Given the description of an element on the screen output the (x, y) to click on. 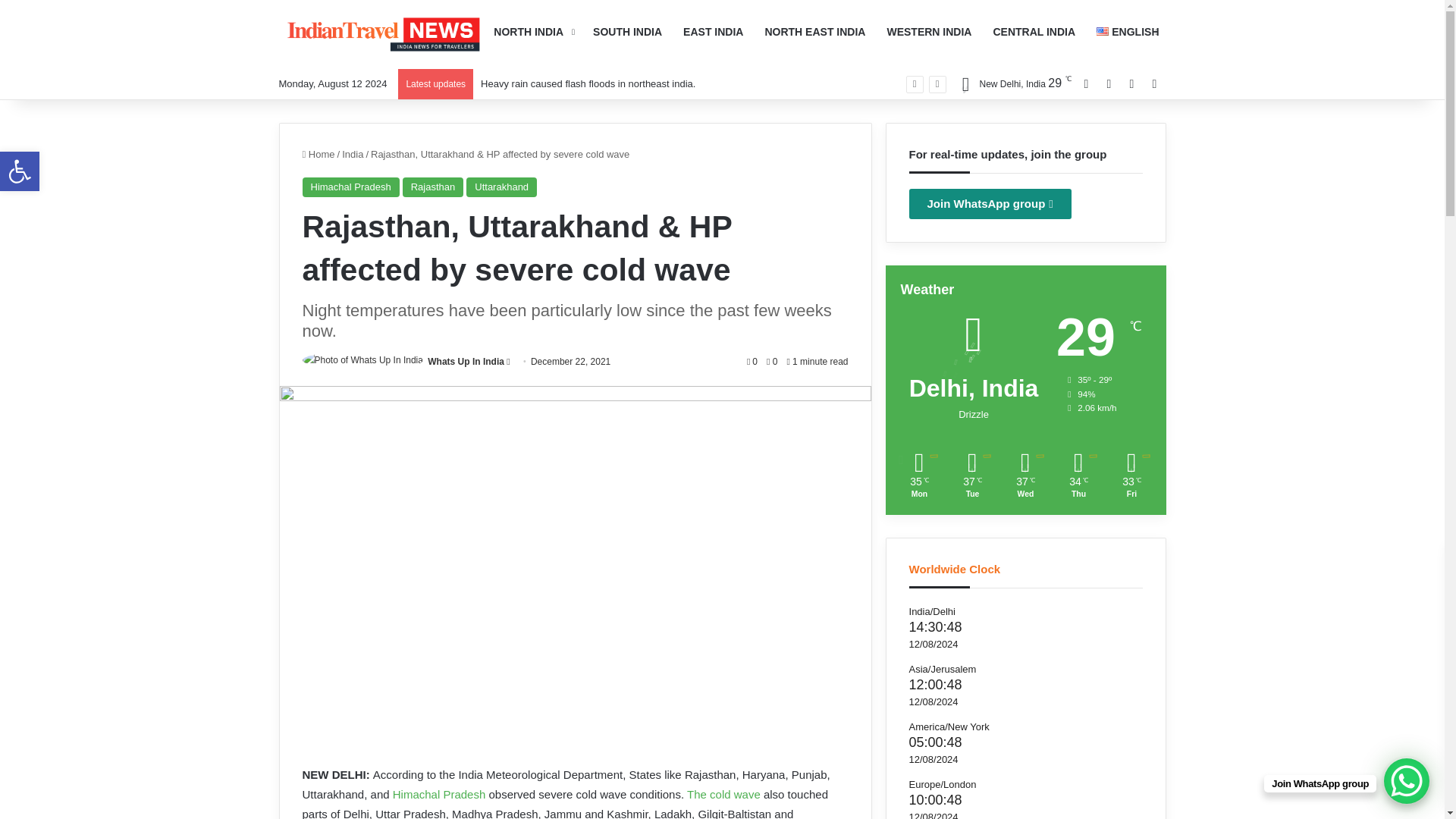
CENTRAL INDIA (1033, 31)
Accessibility Tools (19, 170)
Accessibility Tools (19, 170)
Whats Up In India (465, 361)
WESTERN INDIA (19, 170)
Uttarakhand (928, 31)
Rajasthan (501, 187)
The cold wave (433, 187)
NORTH INDIA (723, 793)
